Given the description of an element on the screen output the (x, y) to click on. 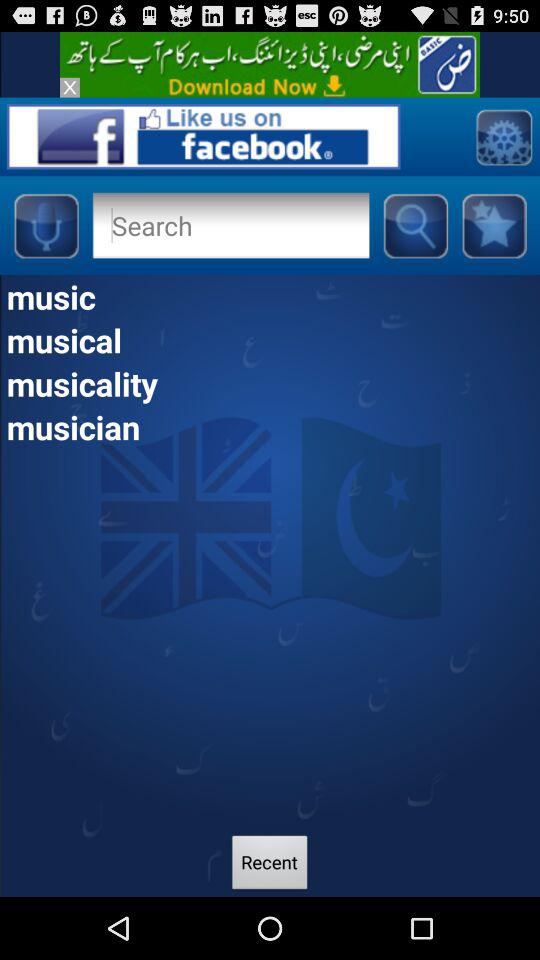
tap the musician item (270, 426)
